Given the description of an element on the screen output the (x, y) to click on. 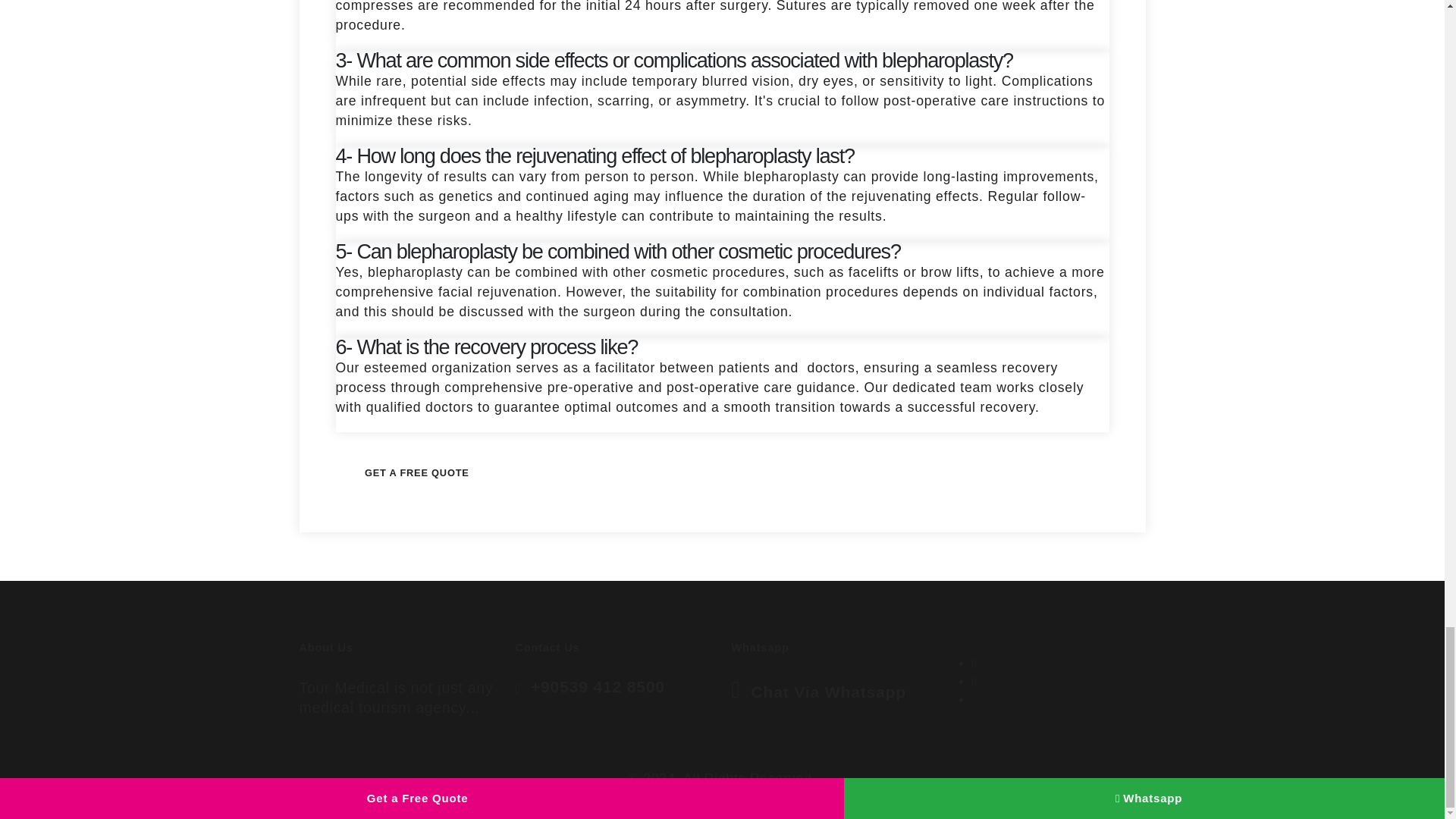
Chat Via Whatsapp (828, 692)
GET A FREE QUOTE (415, 472)
6- What is the recovery process like? (485, 346)
